Given the description of an element on the screen output the (x, y) to click on. 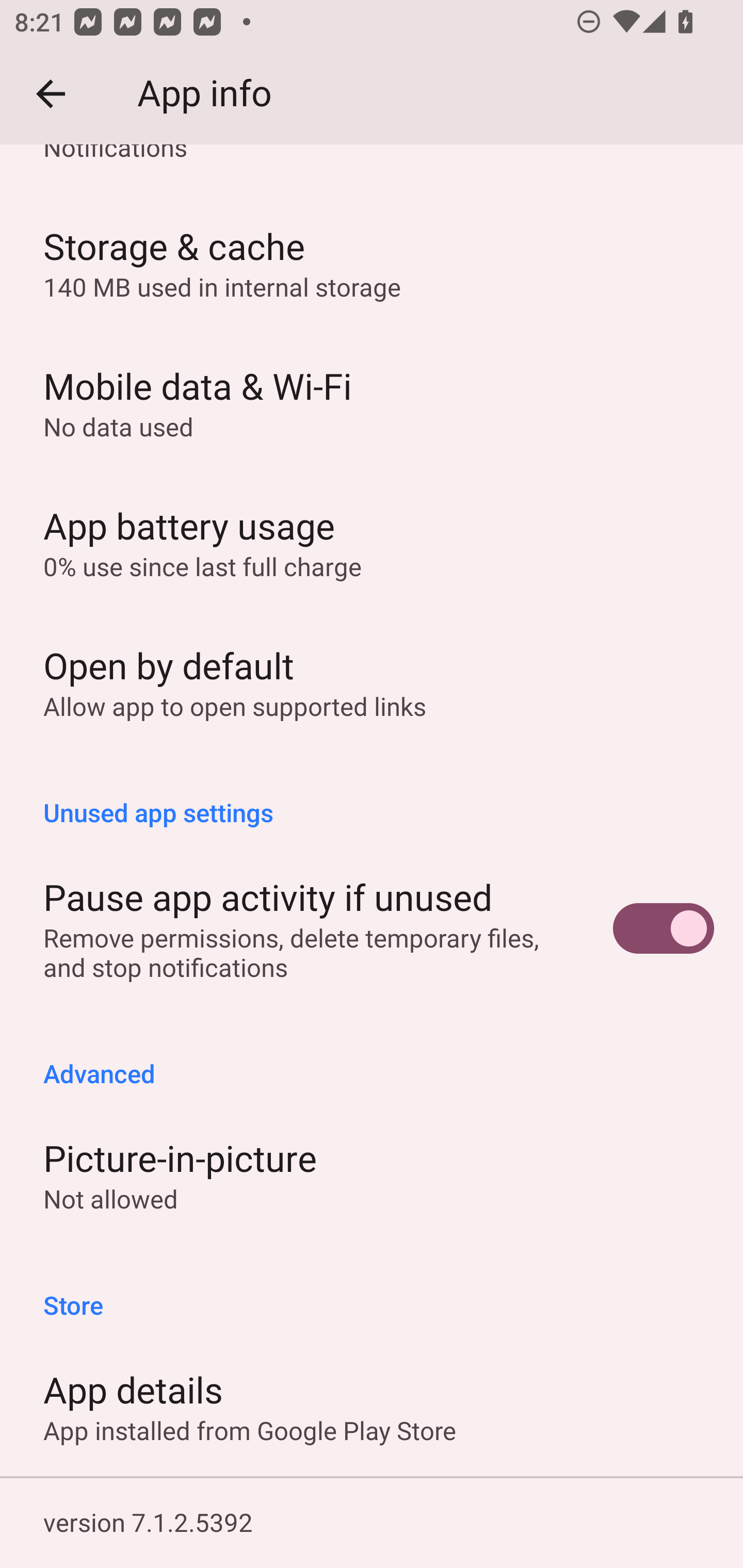
Navigate up (50, 93)
Storage & cache 140 MB used in internal storage (371, 262)
Mobile data & Wi‑Fi No data used (371, 401)
App battery usage 0% use since last full charge (371, 541)
Open by default Allow app to open supported links (371, 681)
Picture-in-picture Not allowed (371, 1174)
App details App installed from Google Play Store (371, 1405)
